Given the description of an element on the screen output the (x, y) to click on. 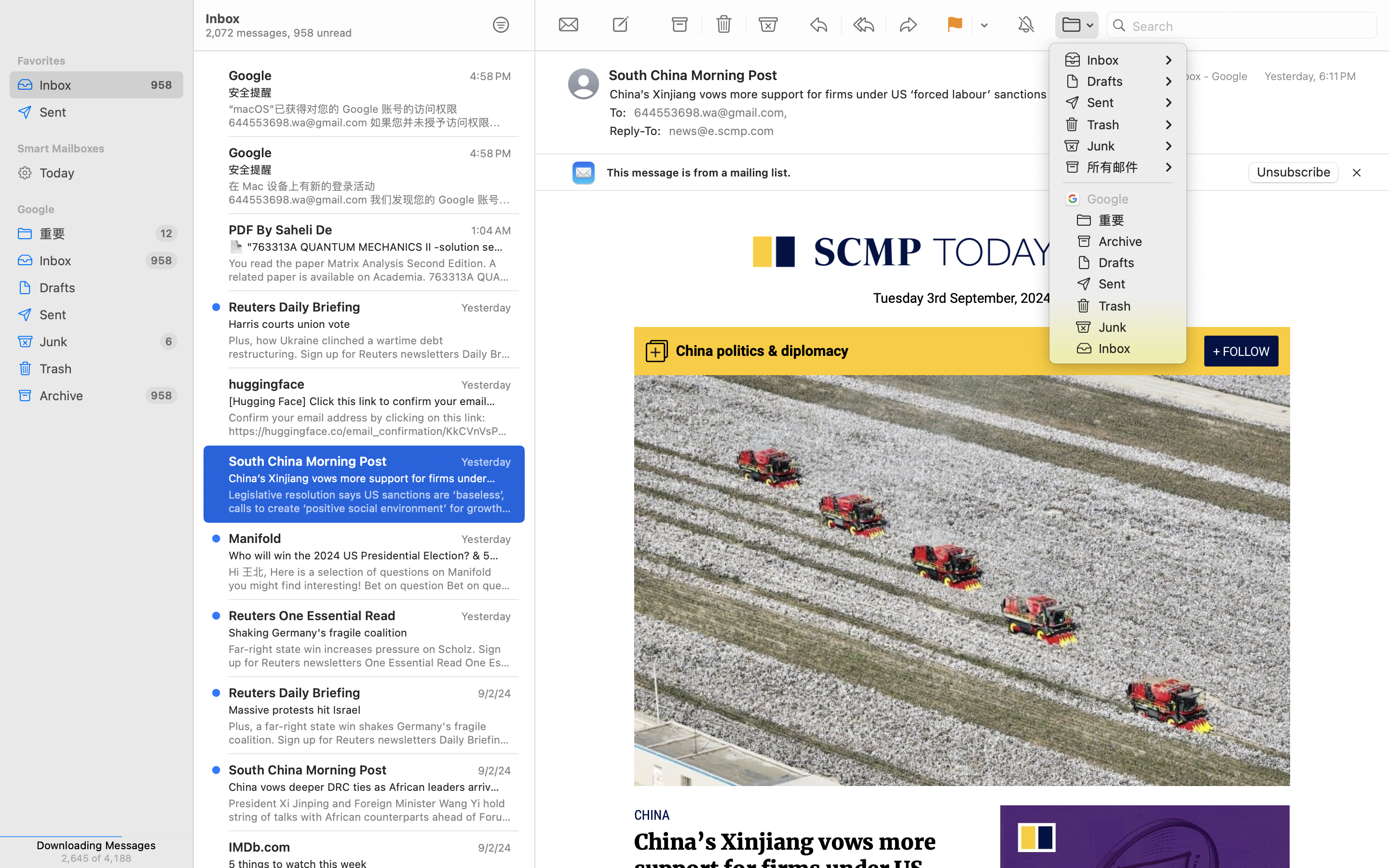
This message is from a mailing list. Element type: AXStaticText (698, 172)
Favorites Element type: AXStaticText (96, 60)
Downloading Messages Element type: AXStaticText (96, 844)
Massive protests hit Israel Element type: AXStaticText (365, 709)
PDF By Saheli De Element type: AXStaticText (280, 229)
